Given the description of an element on the screen output the (x, y) to click on. 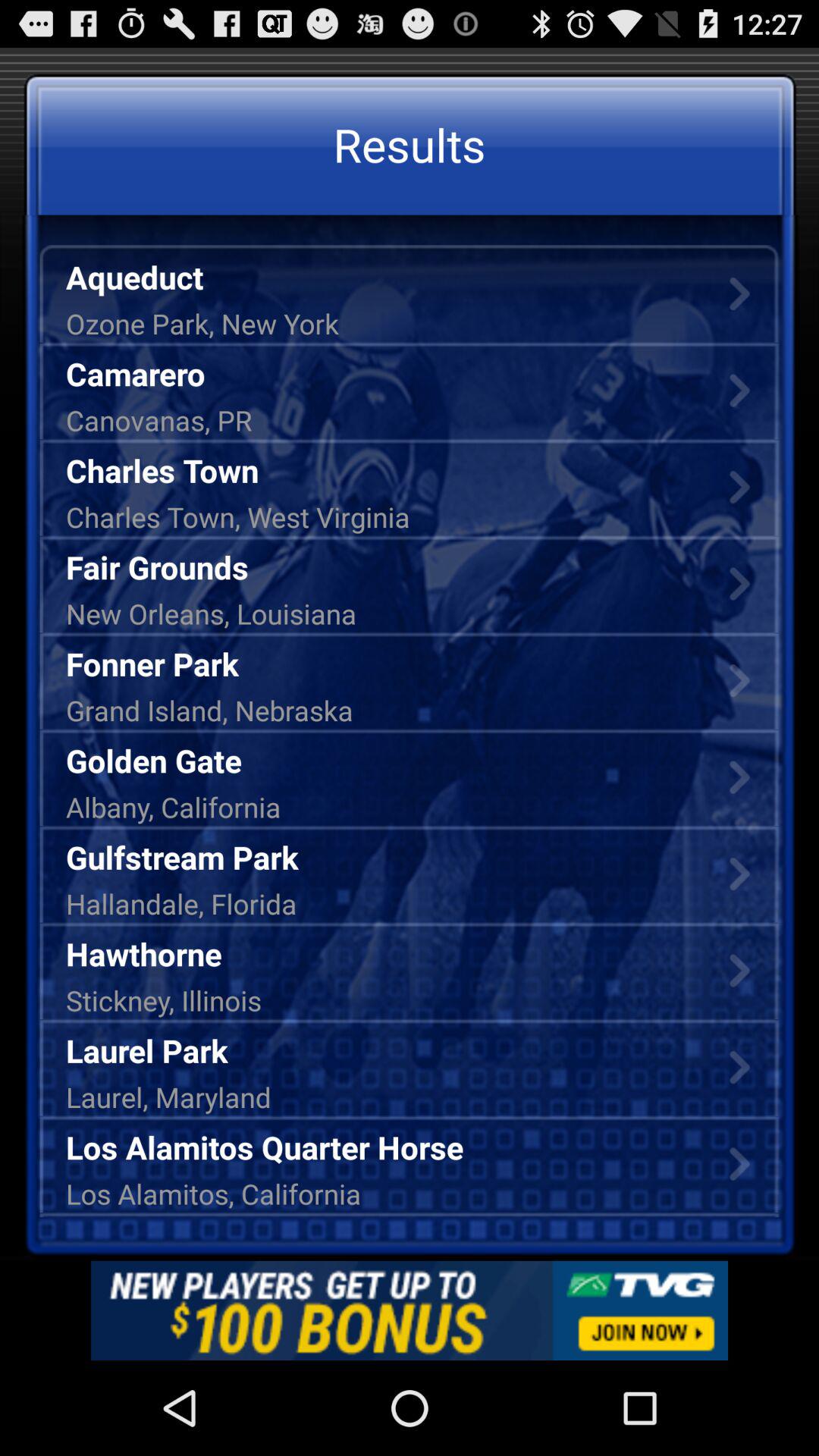
go to advertisement (409, 1310)
